Given the description of an element on the screen output the (x, y) to click on. 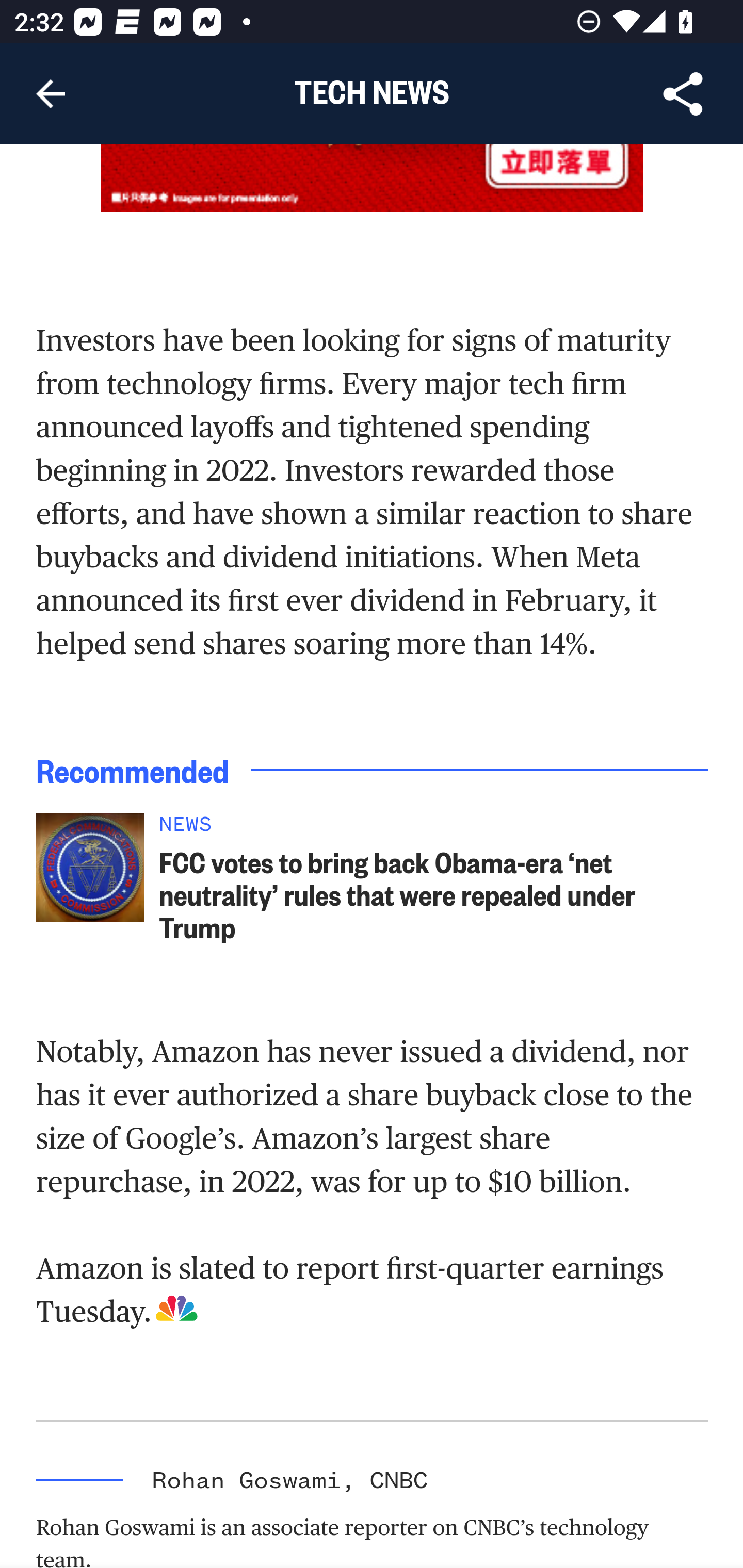
Navigate up (50, 93)
Share Article, button (683, 94)
Advertisement (372, 178)
NEWS (434, 828)
